Given the description of an element on the screen output the (x, y) to click on. 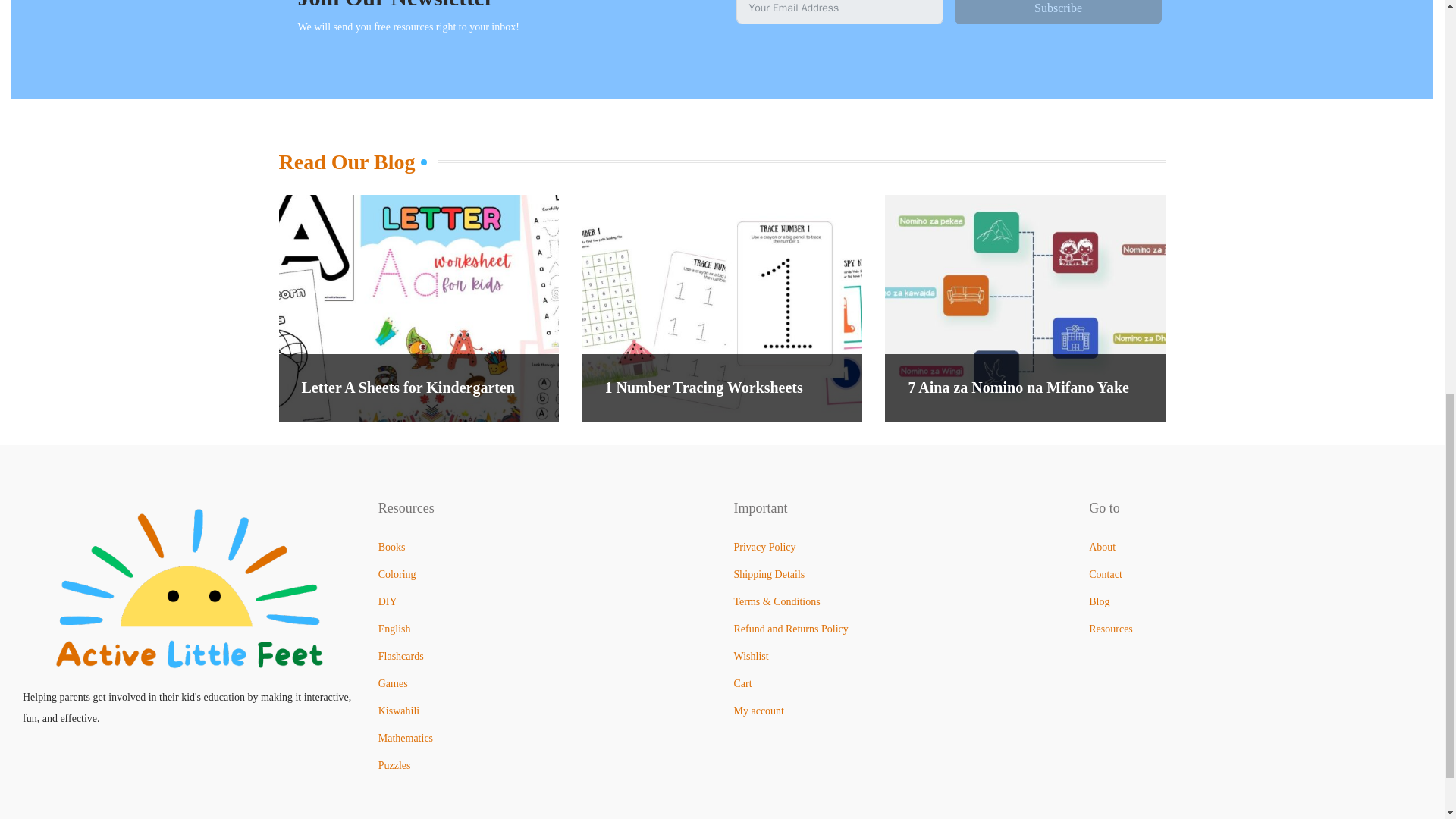
Subscribe (1058, 12)
Coloring (397, 573)
Puzzles (394, 765)
Kiswahili (398, 710)
1 Number Tracing Worksheets (703, 387)
English (394, 628)
Wishlist (750, 655)
DIY (387, 601)
Mathematics (405, 737)
Privacy Policy (764, 546)
Refund and Returns Policy (790, 628)
7 Aina za Nomino na Mifano Yake (1018, 387)
Shipping Details (769, 573)
Games (392, 683)
Books (392, 546)
